Given the description of an element on the screen output the (x, y) to click on. 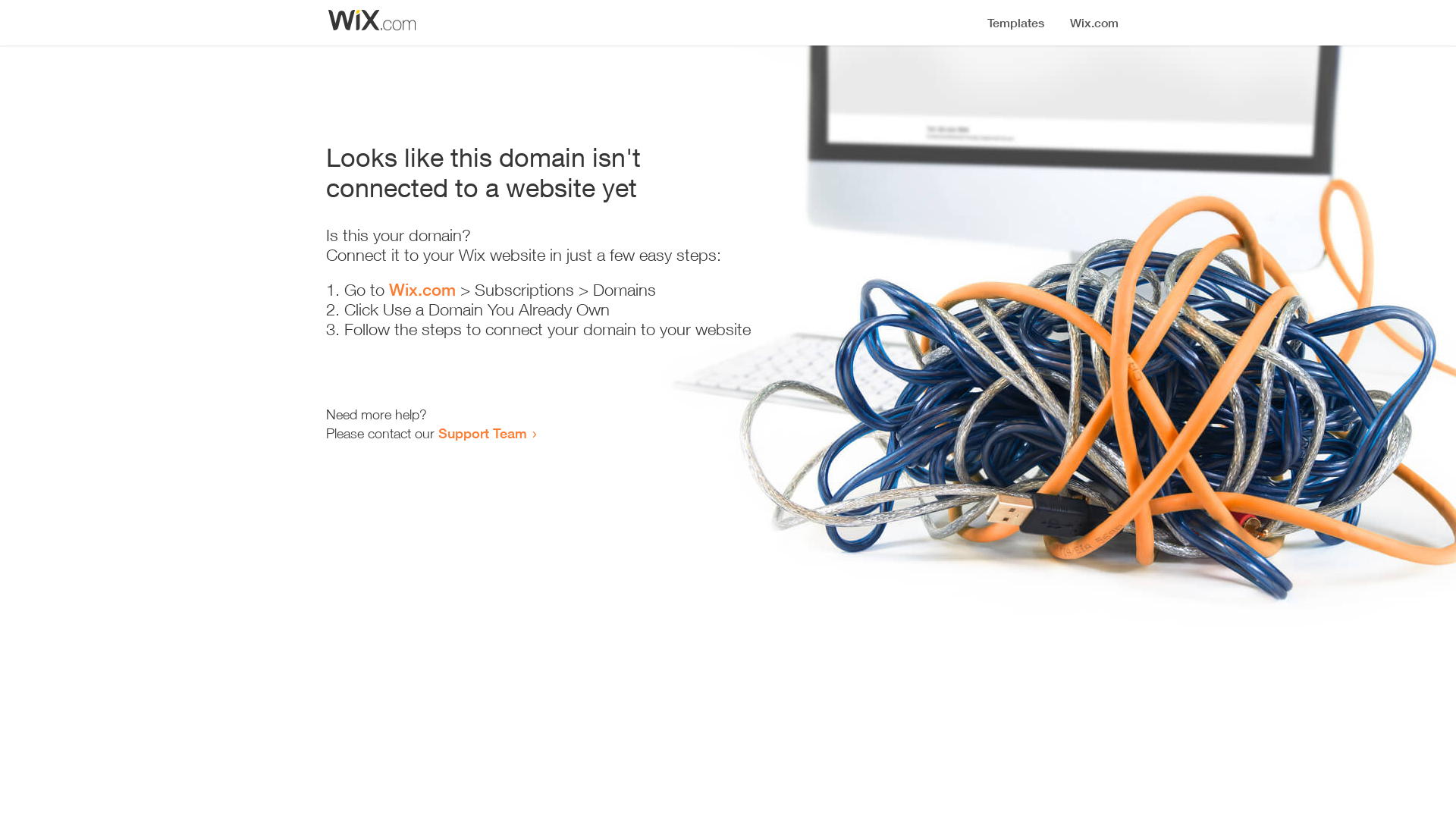
Wix.com Element type: text (422, 289)
Support Team Element type: text (482, 432)
